Given the description of an element on the screen output the (x, y) to click on. 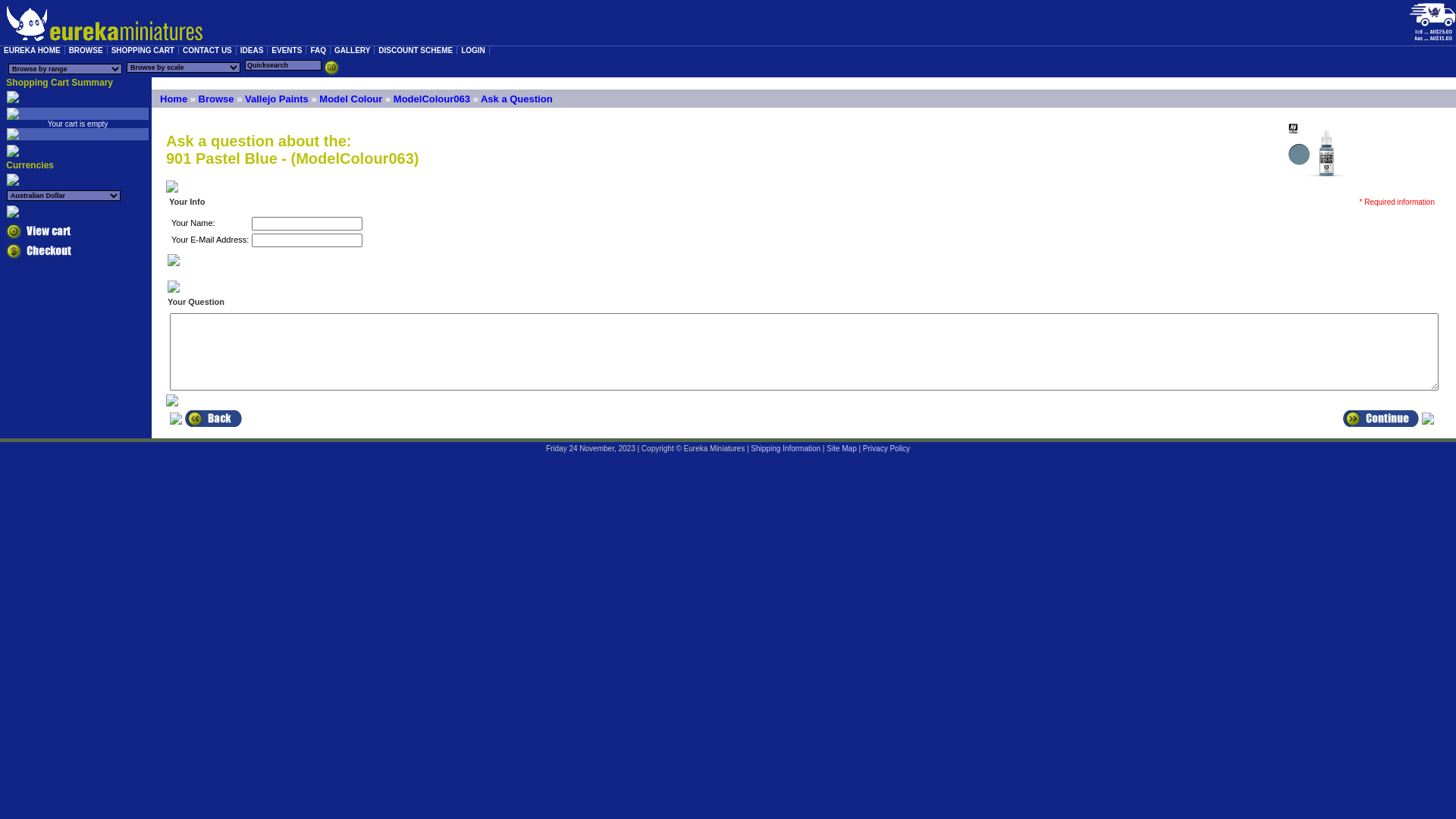
LOGIN Element type: text (473, 50)
EUREKA HOME Element type: text (32, 50)
SHOPPING CART Element type: text (142, 50)
Browse Element type: text (216, 97)
Home Element type: text (173, 97)
BROWSE Element type: text (86, 50)
FAQ Element type: text (318, 50)
Privacy Policy Element type: text (886, 448)
Site Map Element type: text (841, 448)
Model Colour Element type: text (350, 97)
DISCOUNT SCHEME Element type: text (415, 50)
 Continue  Element type: hover (1380, 418)
IDEAS Element type: text (252, 50)
 901 Pastel Blue  Element type: hover (1314, 149)
EVENTS Element type: text (286, 50)
CONTACT US Element type: text (207, 50)
Ask a Question Element type: text (516, 97)
 Back  Element type: hover (213, 418)
Shipping Information Element type: text (785, 448)
Vallejo Paints Element type: text (276, 97)
 Quicksearch  Element type: hover (330, 67)
ModelColour063 Element type: text (431, 97)
GALLERY Element type: text (352, 50)
